Given the description of an element on the screen output the (x, y) to click on. 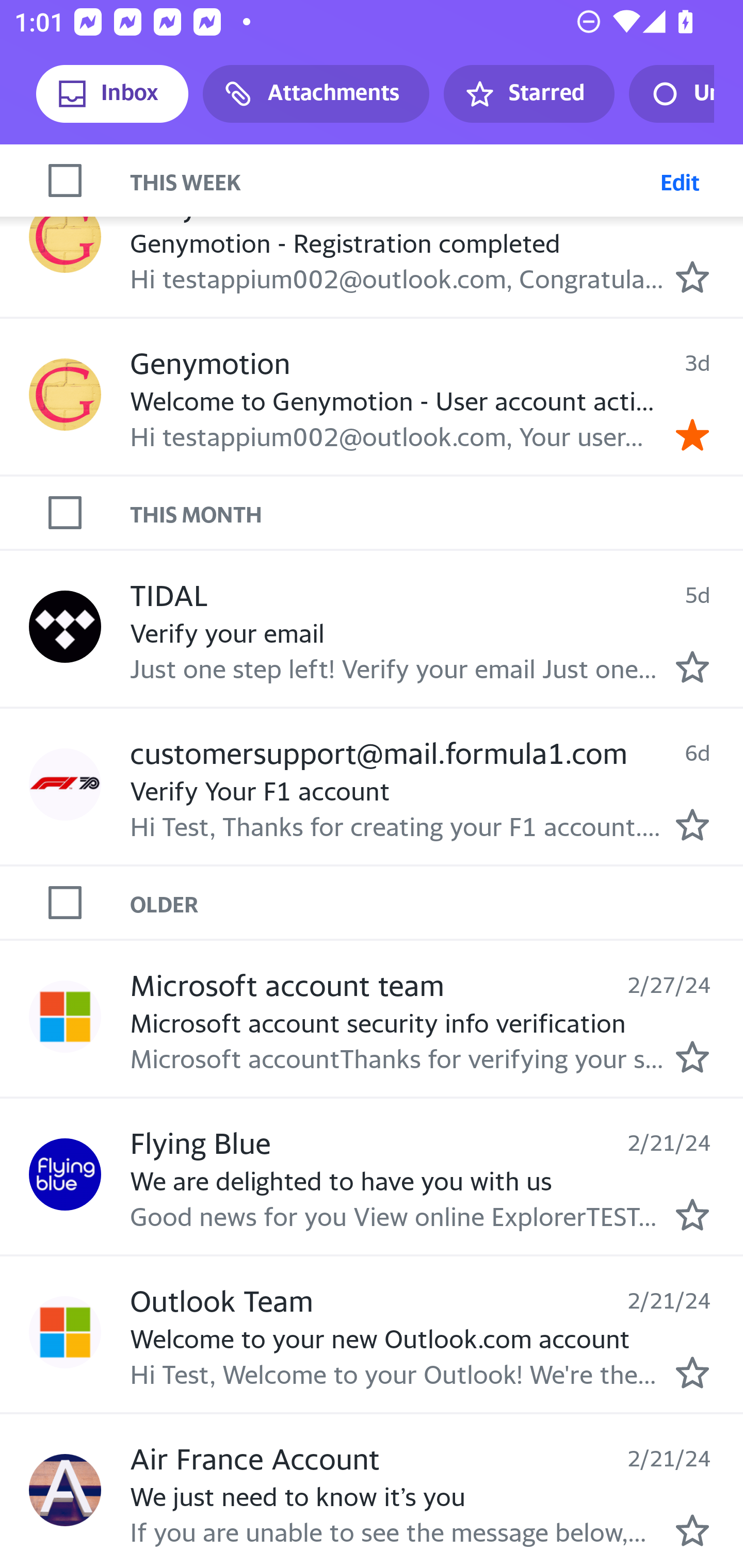
Attachments (315, 93)
Starred (528, 93)
Profile
Genymotion (64, 236)
Mark as starred. (692, 276)
Profile
Genymotion (64, 395)
Remove star. (692, 435)
THIS MONTH (436, 511)
Profile
TIDAL (64, 627)
Mark as starred. (692, 667)
Profile
customersupport@mail.formula1.com (64, 783)
Mark as starred. (692, 824)
OLDER (436, 902)
Profile
Microsoft account team (64, 1016)
Mark as starred. (692, 1056)
Profile
Flying Blue (64, 1174)
Mark as starred. (692, 1214)
Profile
Outlook Team (64, 1332)
Mark as starred. (692, 1372)
Profile
Air France Account (64, 1489)
Mark as starred. (692, 1530)
